Given the description of an element on the screen output the (x, y) to click on. 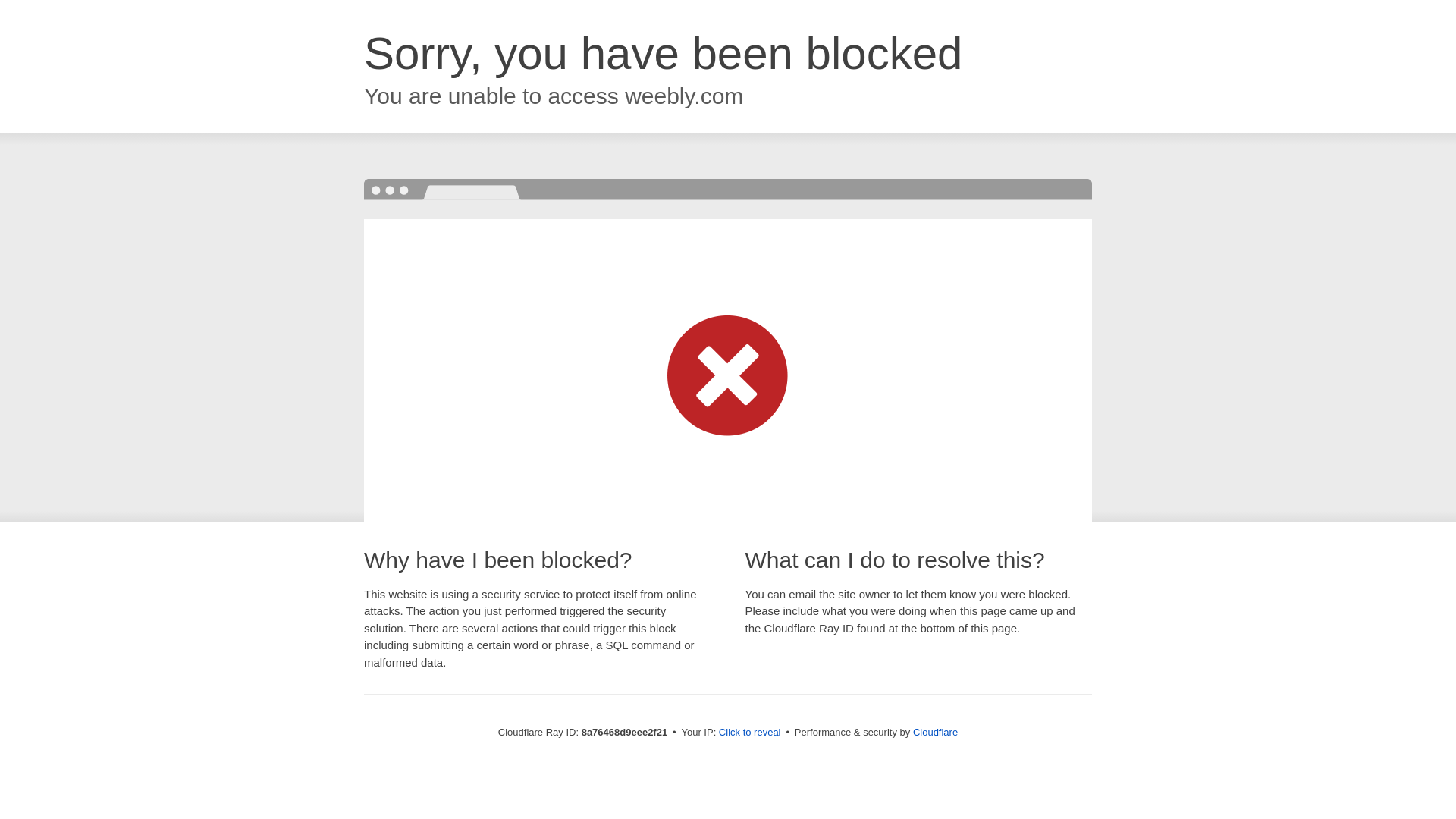
Click to reveal (749, 732)
Cloudflare (935, 731)
